Given the description of an element on the screen output the (x, y) to click on. 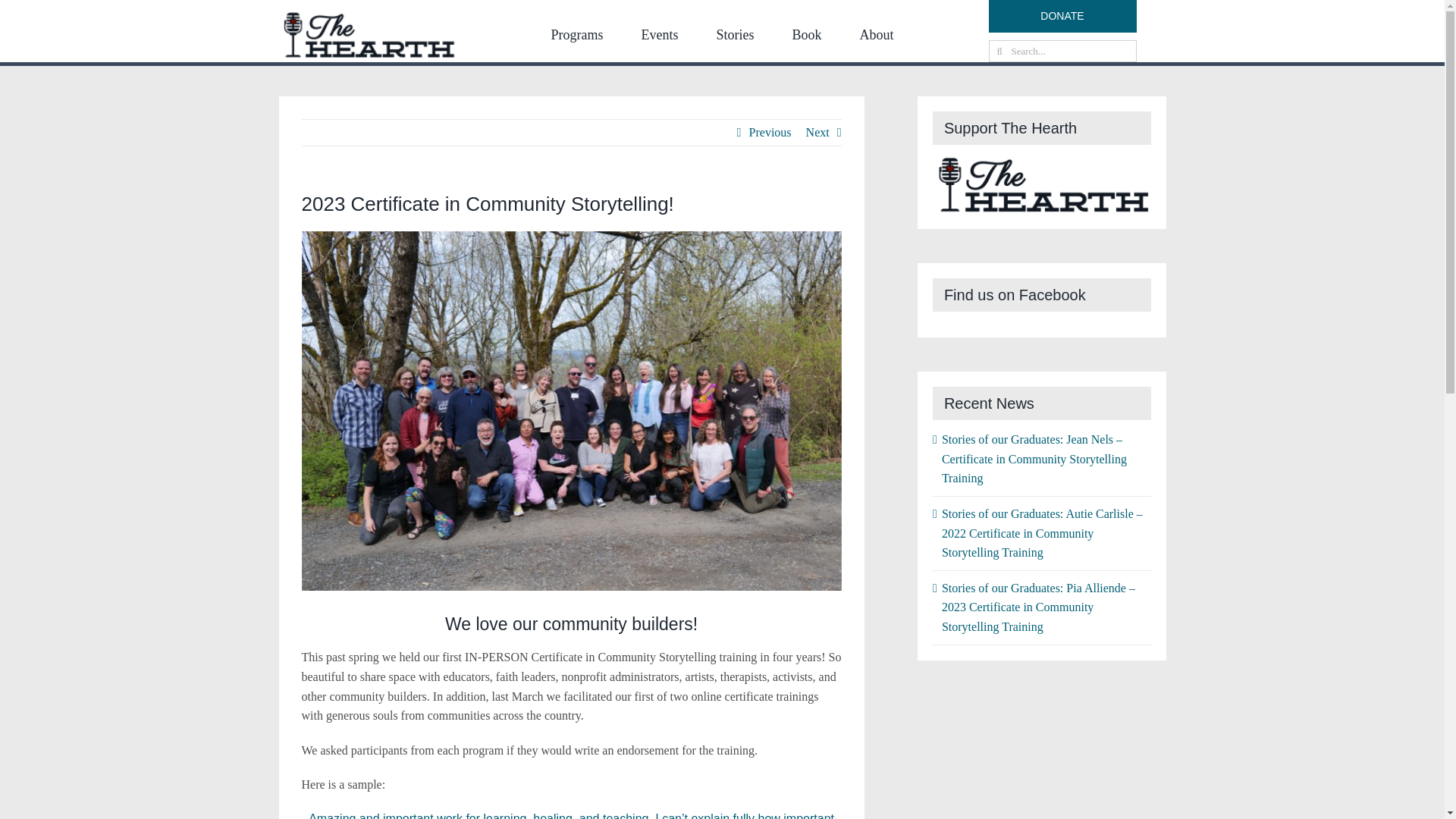
Book (807, 34)
Next (817, 132)
Previous (770, 132)
DONATE (1062, 16)
Stories (735, 34)
Programs (576, 34)
Events (659, 34)
About (876, 34)
